Given the description of an element on the screen output the (x, y) to click on. 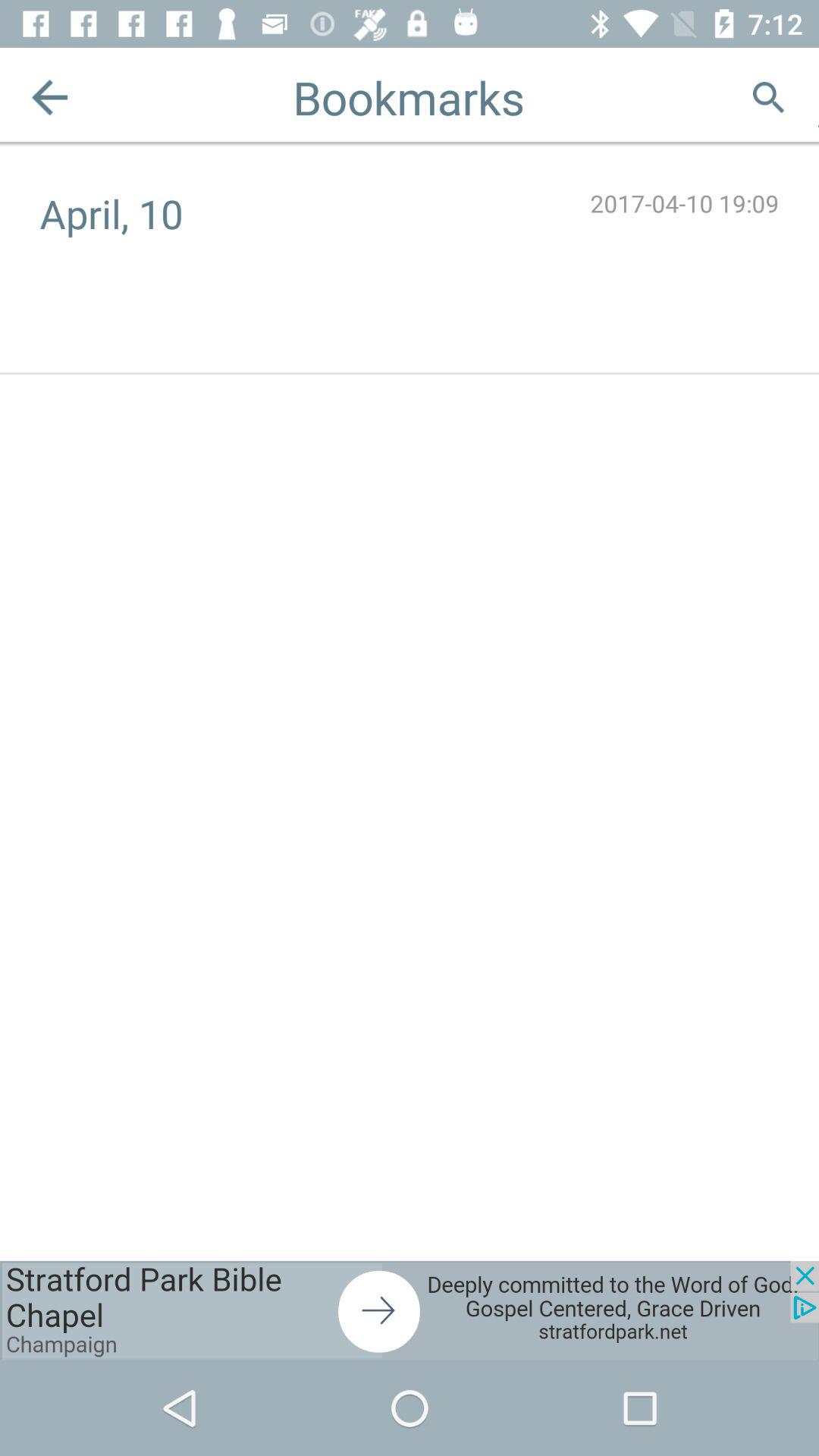
previous button (49, 97)
